Given the description of an element on the screen output the (x, y) to click on. 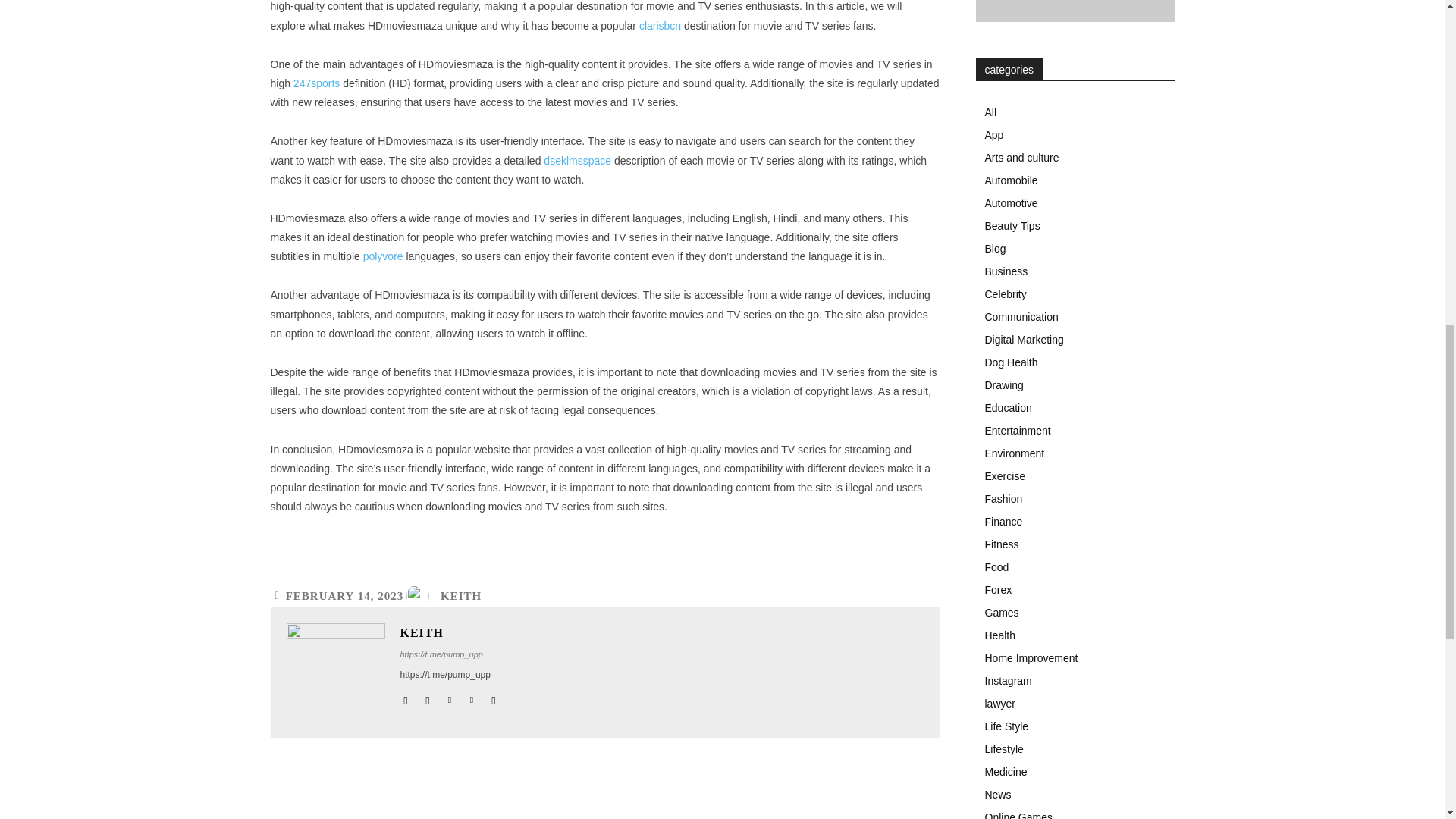
247sports (316, 82)
keith (421, 595)
pinterest (471, 696)
youtube (493, 696)
clarisbcn (660, 25)
KEITH (449, 633)
keith (335, 672)
flickr (427, 696)
behance (406, 696)
dseklmsspace (577, 160)
